Given the description of an element on the screen output the (x, y) to click on. 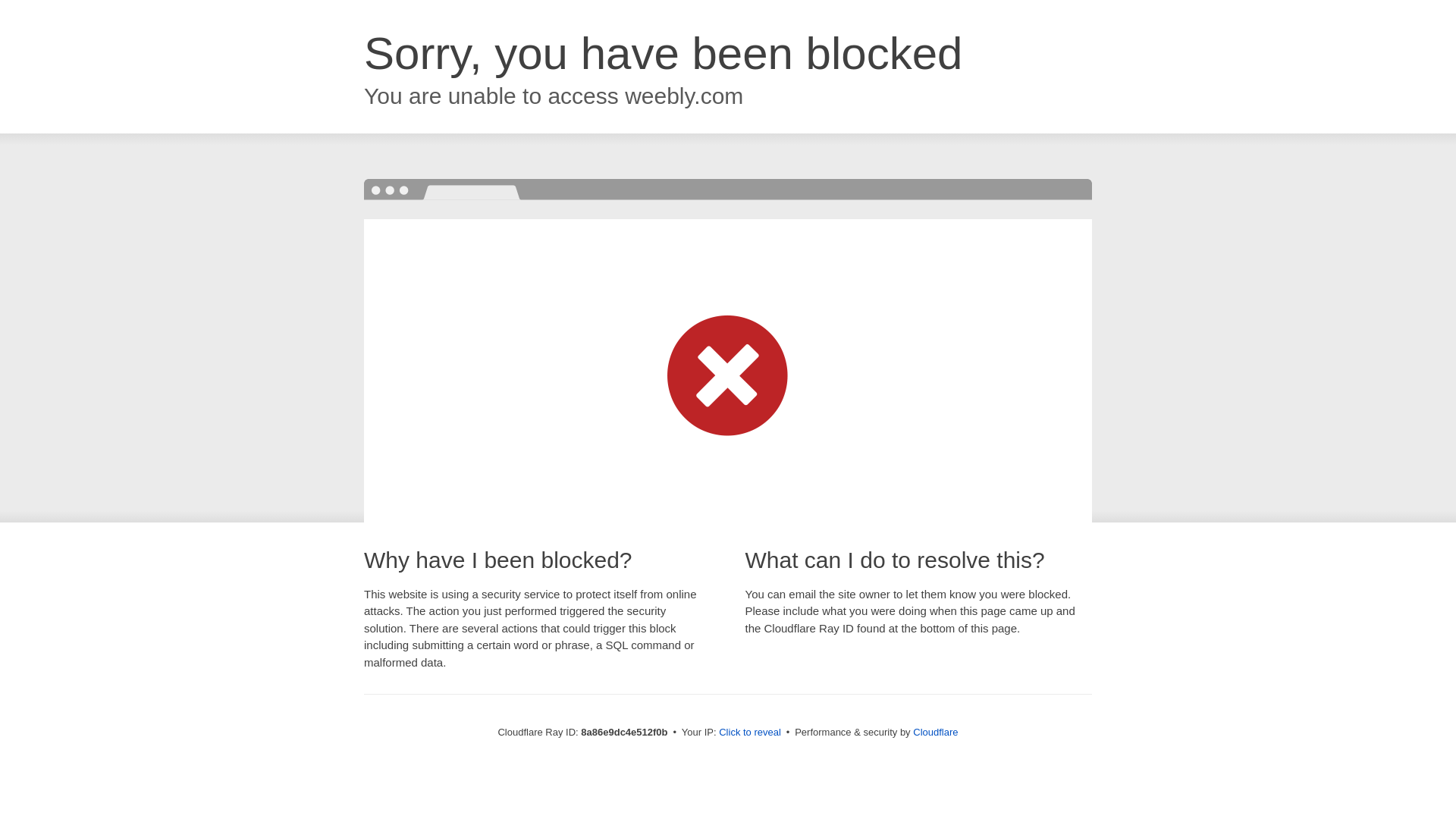
Click to reveal (749, 732)
Cloudflare (935, 731)
